Given the description of an element on the screen output the (x, y) to click on. 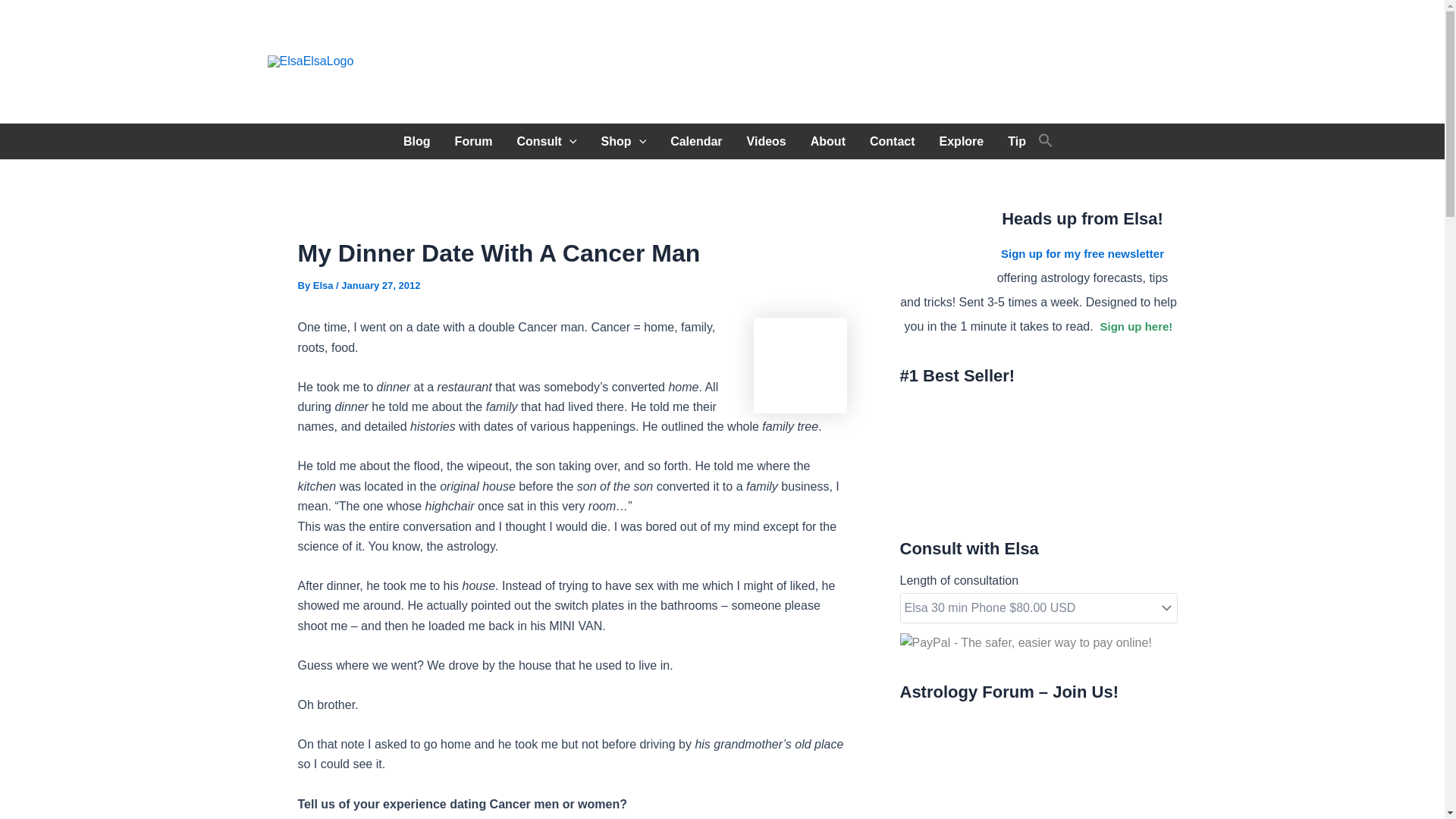
Tip (1016, 140)
Blog (416, 140)
Consult (545, 140)
Contact (892, 140)
Shop (624, 140)
Forum (473, 140)
Elsa (324, 285)
View all posts by Elsa (324, 285)
Calendar (695, 140)
About (827, 140)
